Given the description of an element on the screen output the (x, y) to click on. 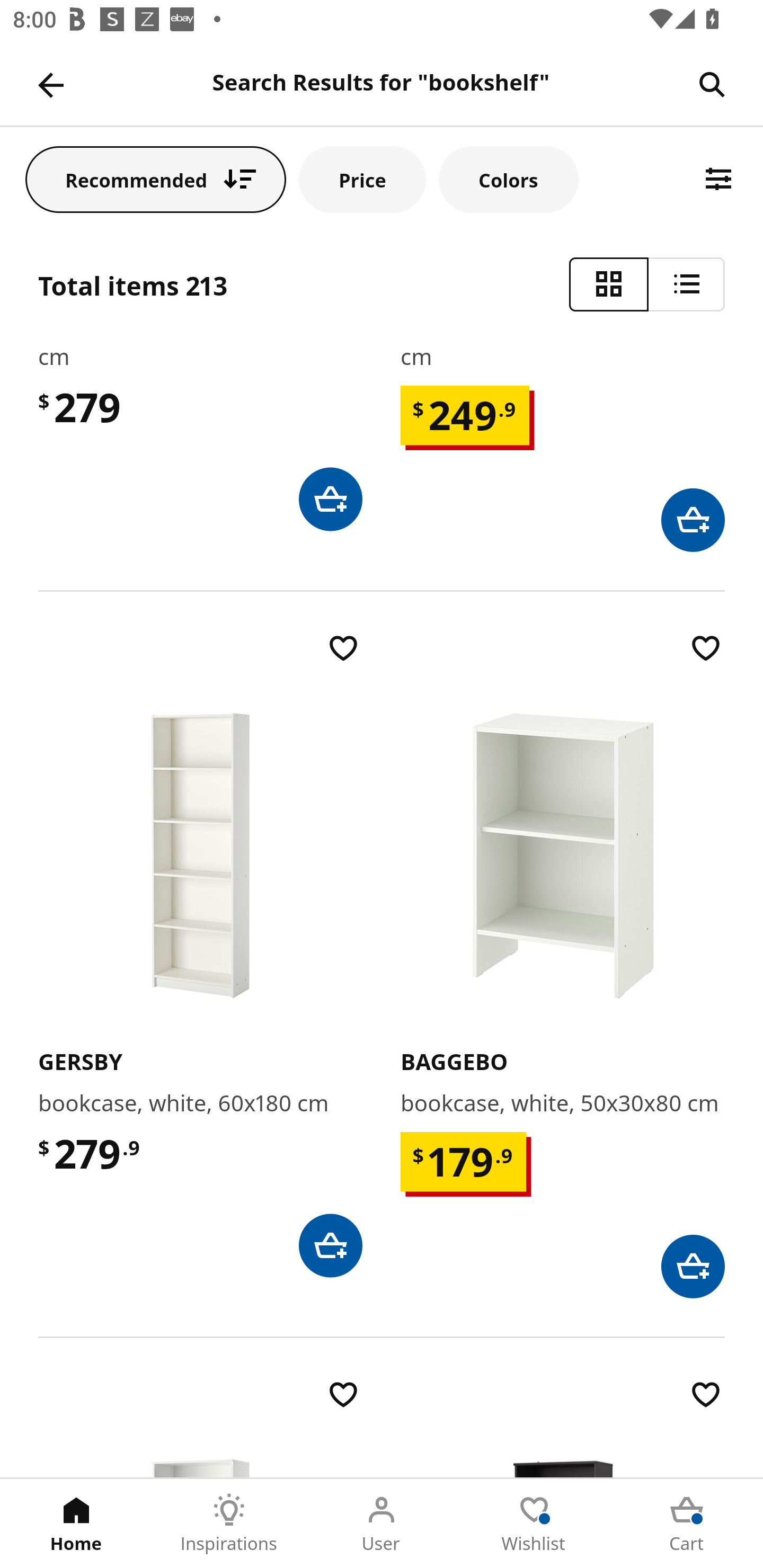
Recommended (155, 179)
Price (362, 179)
Colors (508, 179)
​G​E​R​S​B​Y​
bookcase, white, 60x180 cm
$
279
.9 (200, 953)
Home
Tab 1 of 5 (76, 1522)
Inspirations
Tab 2 of 5 (228, 1522)
User
Tab 3 of 5 (381, 1522)
Wishlist
Tab 4 of 5 (533, 1522)
Cart
Tab 5 of 5 (686, 1522)
